Given the description of an element on the screen output the (x, y) to click on. 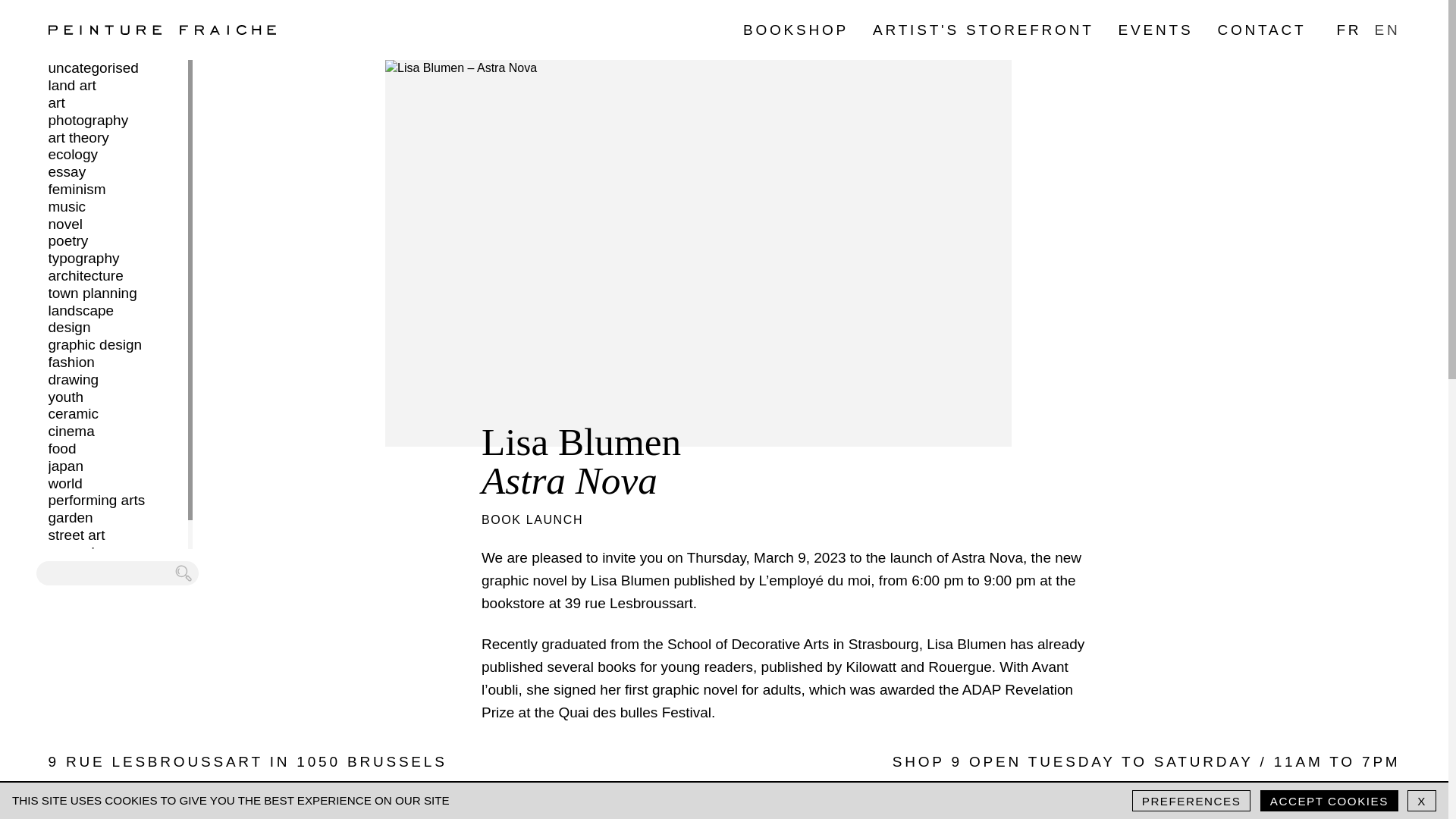
Events (1155, 29)
EVENTS (1155, 29)
FR (1348, 29)
CONTACT (1261, 29)
Bookshop (795, 29)
ARTIST'S STOREFRONT (983, 29)
Contact (1261, 29)
EN (1386, 29)
BOOKSHOP (795, 29)
Artist's storefront (983, 29)
